Given the description of an element on the screen output the (x, y) to click on. 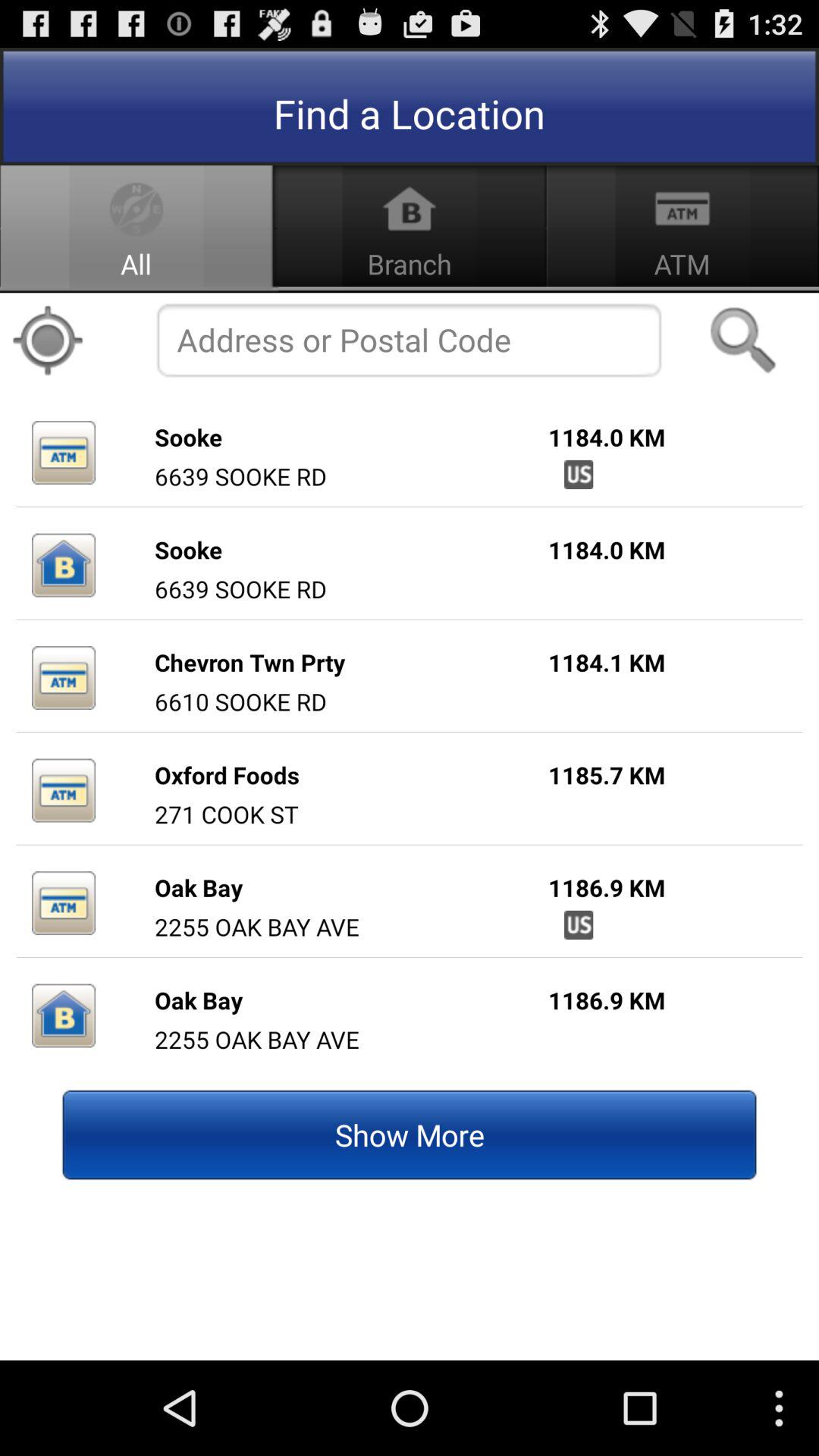
open item to the left of all app (47, 340)
